Given the description of an element on the screen output the (x, y) to click on. 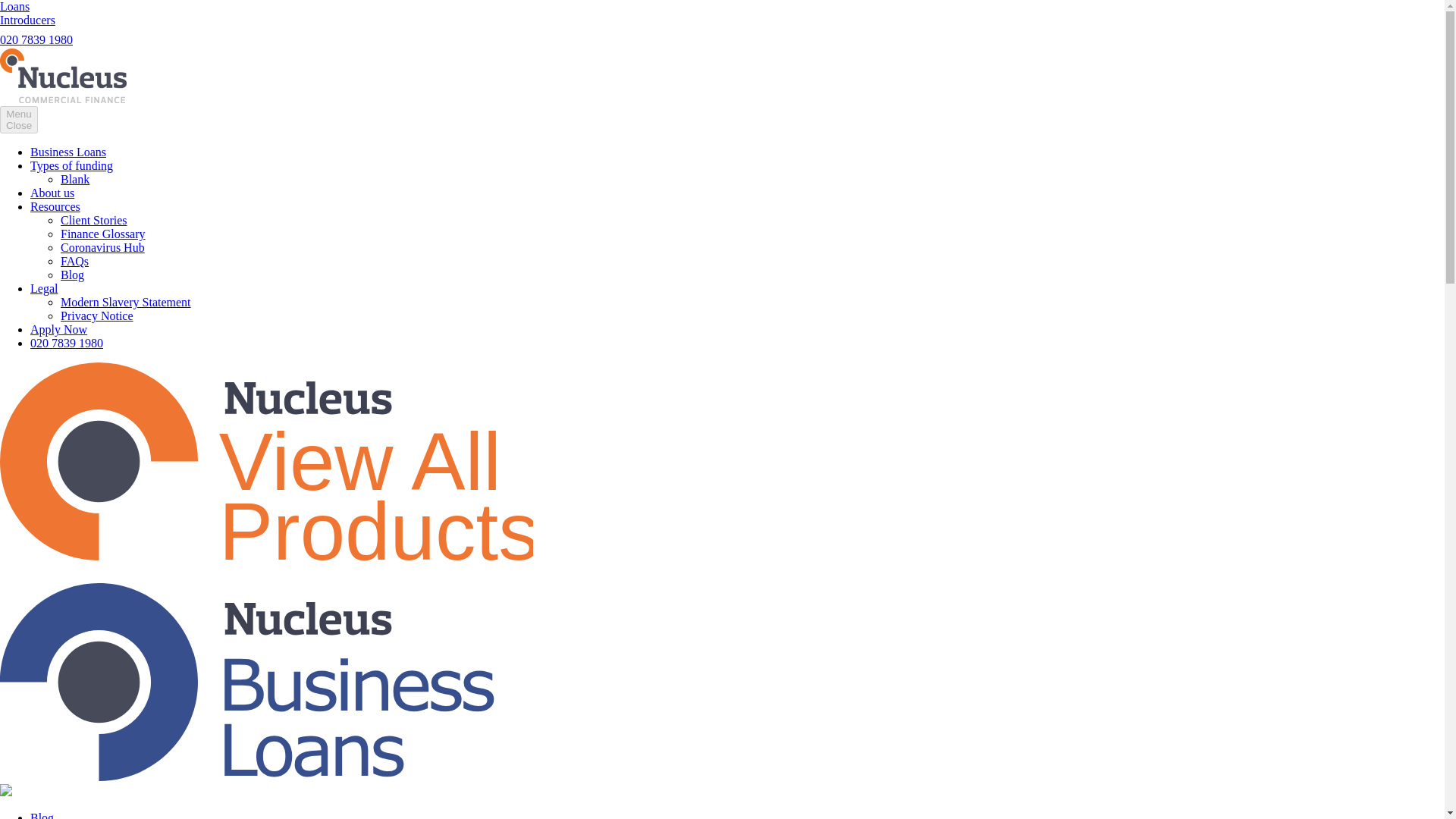
Business Loans (68, 151)
Business Loans (68, 151)
Coronavirus Hub (102, 246)
Types of funding (71, 164)
Apply Now (58, 328)
Blank (74, 178)
Client Stories (94, 219)
Coronavirus Hub (102, 246)
FAQs (74, 260)
Client Stories (94, 219)
Blog (72, 274)
Privacy Notice (97, 315)
Types of funding (71, 164)
020 7839 1980 (36, 39)
Blank (74, 178)
